Given the description of an element on the screen output the (x, y) to click on. 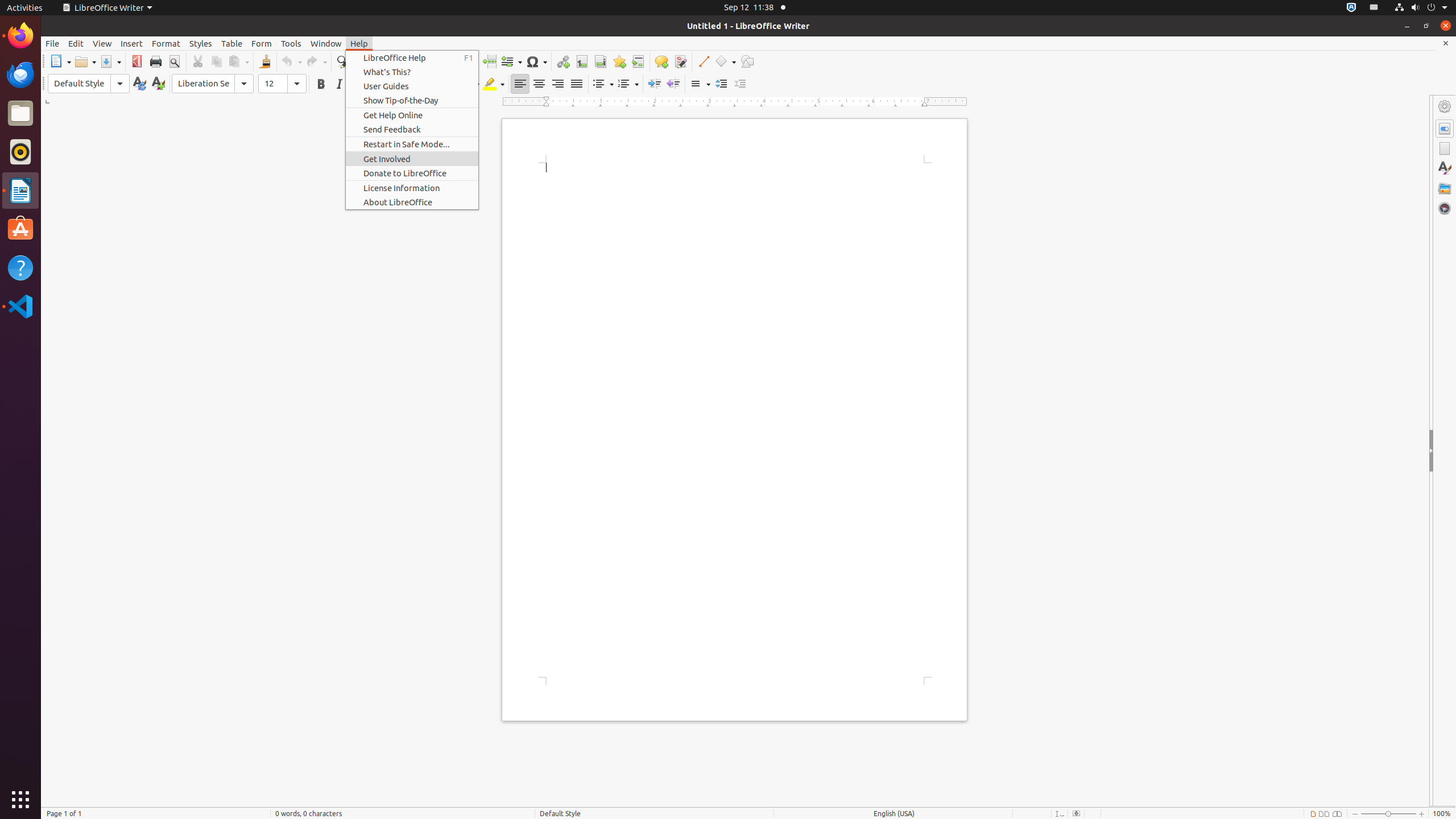
PDF Element type: push-button (136, 61)
Justified Element type: toggle-button (576, 83)
What's This? Element type: menu-item (411, 71)
Left Element type: toggle-button (519, 83)
Show Applications Element type: toggle-button (20, 799)
